Given the description of an element on the screen output the (x, y) to click on. 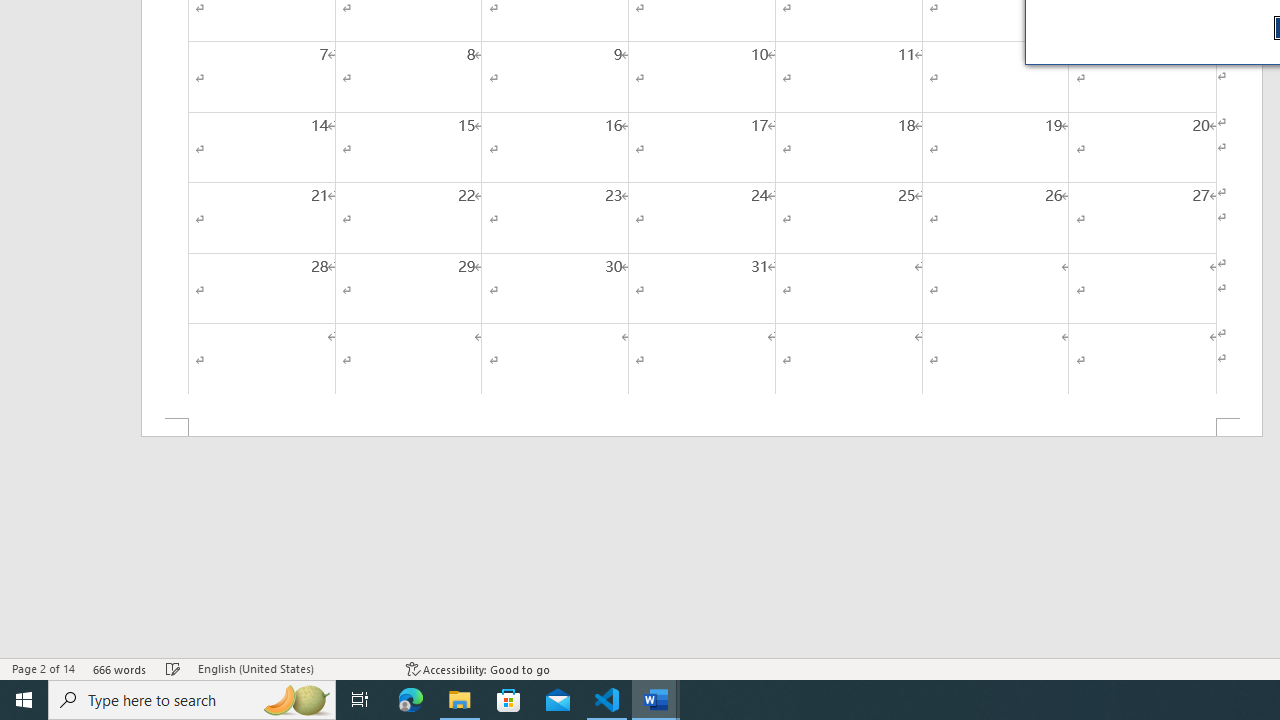
Accessibility Checker Accessibility: Good to go (478, 668)
Word - 2 running windows (656, 699)
File Explorer - 1 running window (460, 699)
Word Count 666 words (119, 668)
Search highlights icon opens search home window (295, 699)
Task View (359, 699)
Visual Studio Code - 1 running window (607, 699)
Spelling and Grammar Check Checking (173, 668)
Microsoft Store (509, 699)
Start (24, 699)
Page Number Page 2 of 14 (43, 668)
Type here to search (191, 699)
Language English (United States) (292, 668)
